Given the description of an element on the screen output the (x, y) to click on. 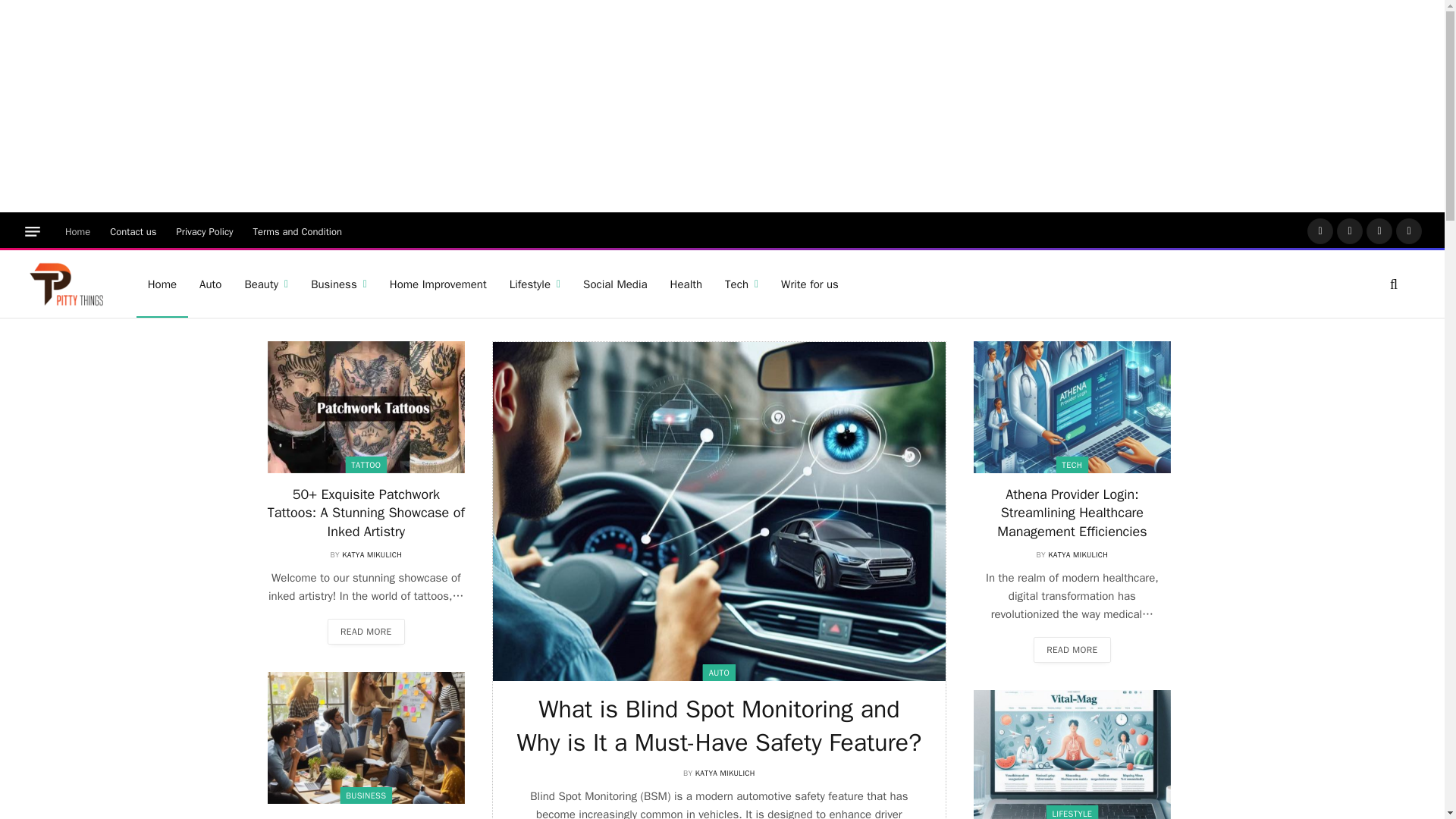
Terms and Condition (297, 231)
Facebook (1320, 231)
Posts by Katya Mikulich (371, 554)
Privacy Policy (205, 231)
50 Ways to Market Your Home Business (365, 737)
Contact us (132, 231)
Instagram (1379, 231)
Auto (209, 283)
Home (77, 231)
Pinterest (1409, 231)
Pitty Things (66, 284)
Search (1392, 283)
Home (161, 283)
